Given the description of an element on the screen output the (x, y) to click on. 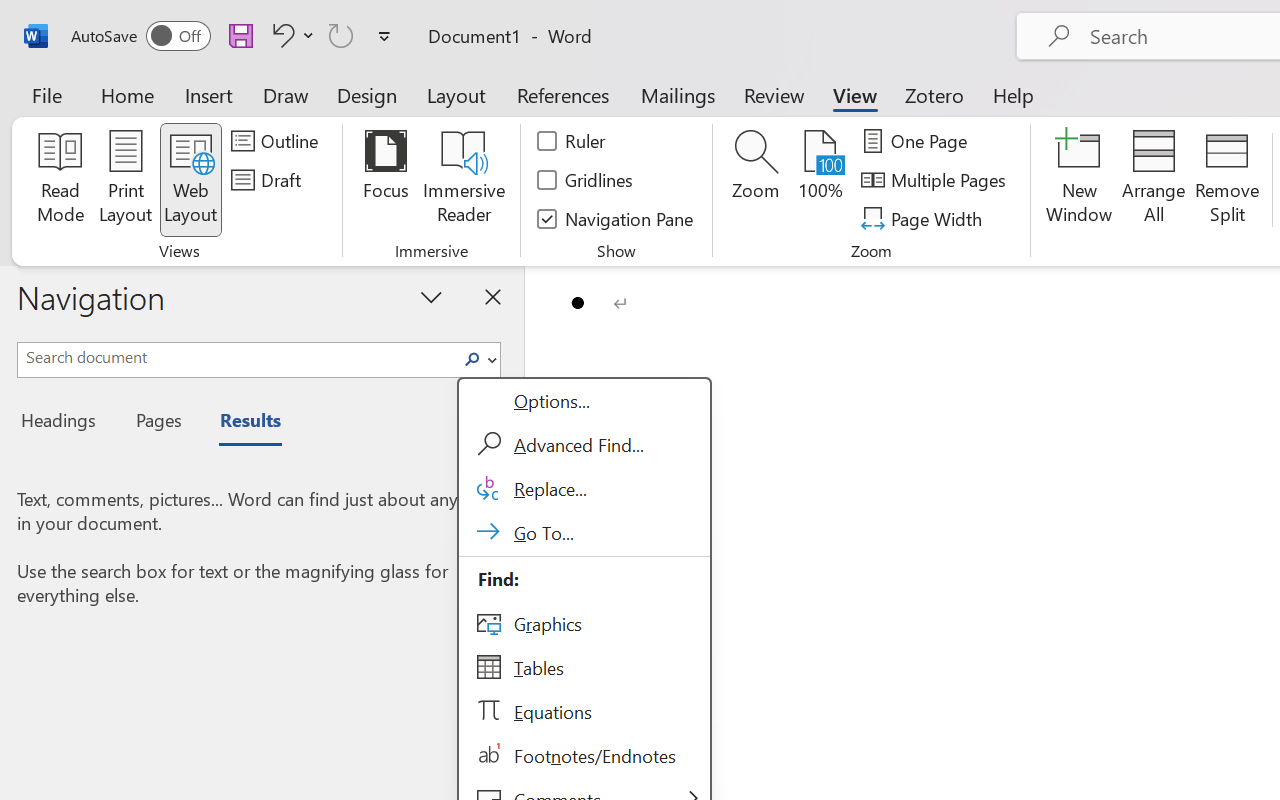
100% (820, 179)
Undo Bullet Default (290, 35)
Ruler (572, 141)
Draft (269, 179)
Multiple Pages (936, 179)
